Given the description of an element on the screen output the (x, y) to click on. 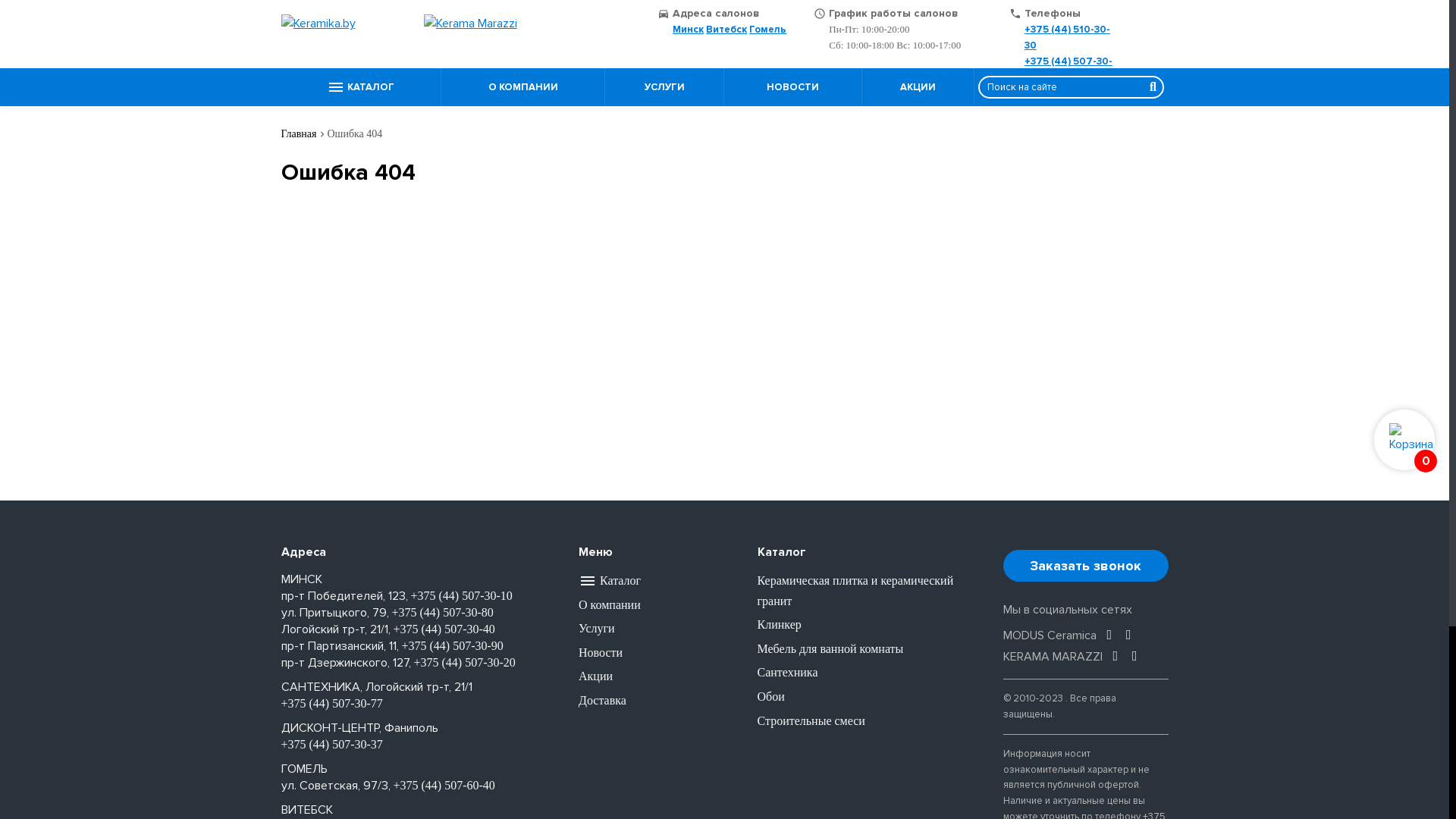
+375 (44) 507-30-77 Element type: text (331, 702)
+375 (44) 507-30-10 Element type: text (1068, 69)
+375 (44) 507-60-40 Element type: text (443, 784)
+375 (44) 507-30-37 Element type: text (331, 743)
+375 (44) 507-30-90 Element type: text (452, 645)
+375 (44) 507-30-20 Element type: text (464, 661)
+375 (44) 507-30-40 Element type: text (443, 628)
+375 (44) 510-30-30 Element type: text (1067, 37)
+375 (44) 507-30-10 Element type: text (461, 595)
+375 (44) 507-30-80 Element type: text (441, 611)
